Given the description of an element on the screen output the (x, y) to click on. 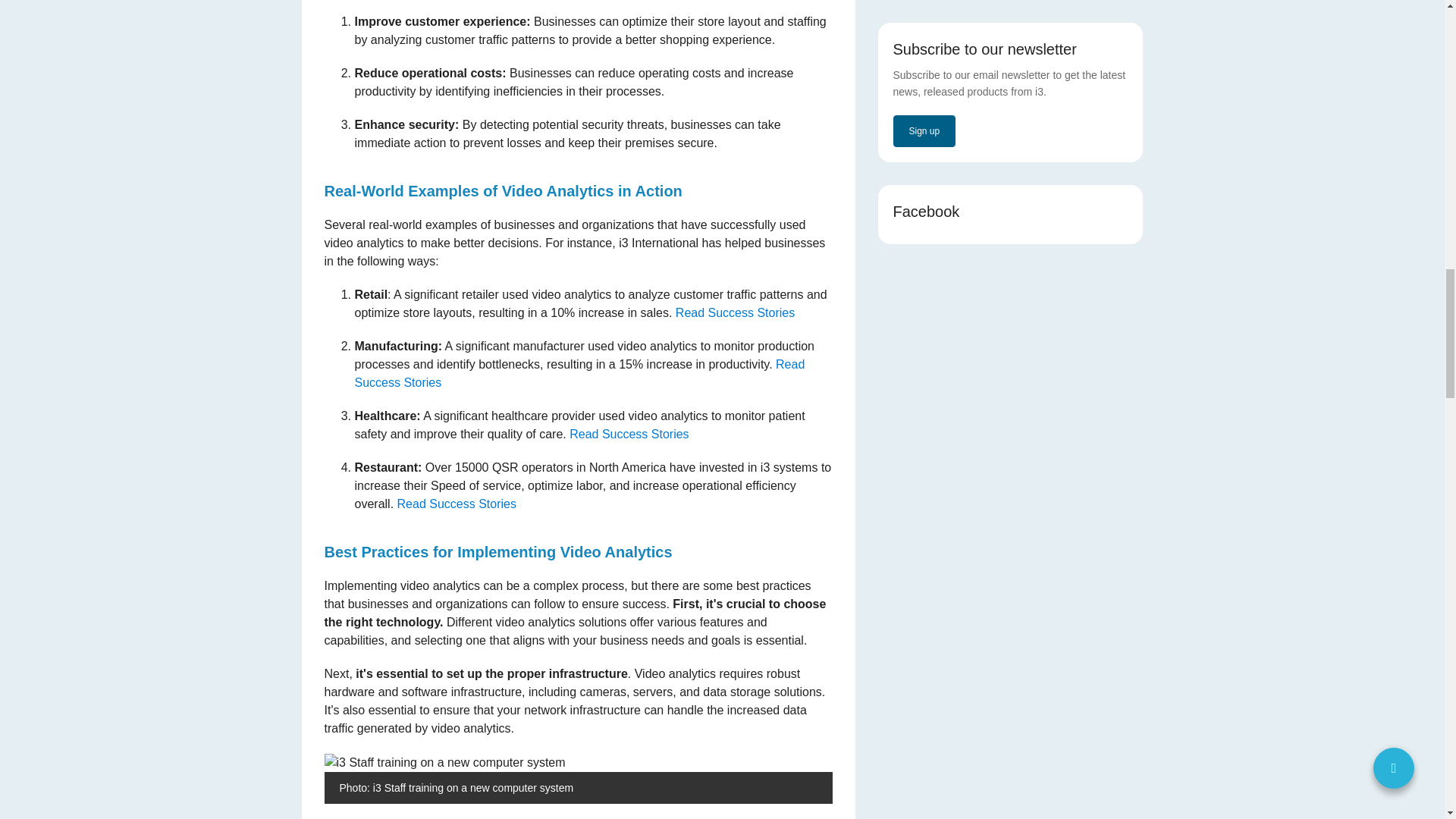
Read Success Stories (456, 503)
Read Success Stories (734, 312)
Read Success Stories (628, 433)
Read Success Stories (580, 373)
